Given the description of an element on the screen output the (x, y) to click on. 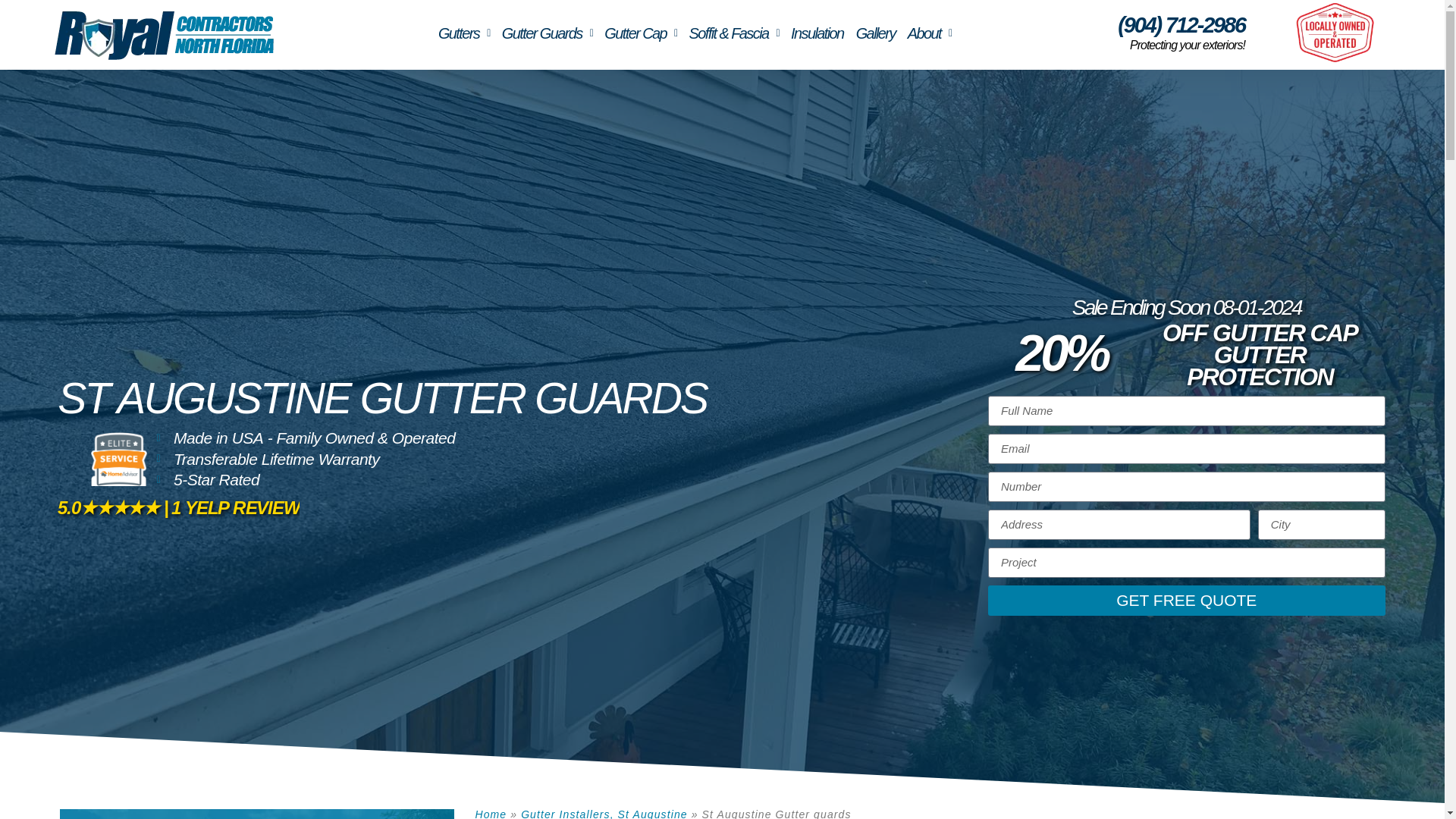
Insulation (817, 32)
Gutters (464, 32)
Gutter Guards (547, 32)
About (929, 32)
Gutter Cap (640, 32)
Gallery (875, 32)
